Given the description of an element on the screen output the (x, y) to click on. 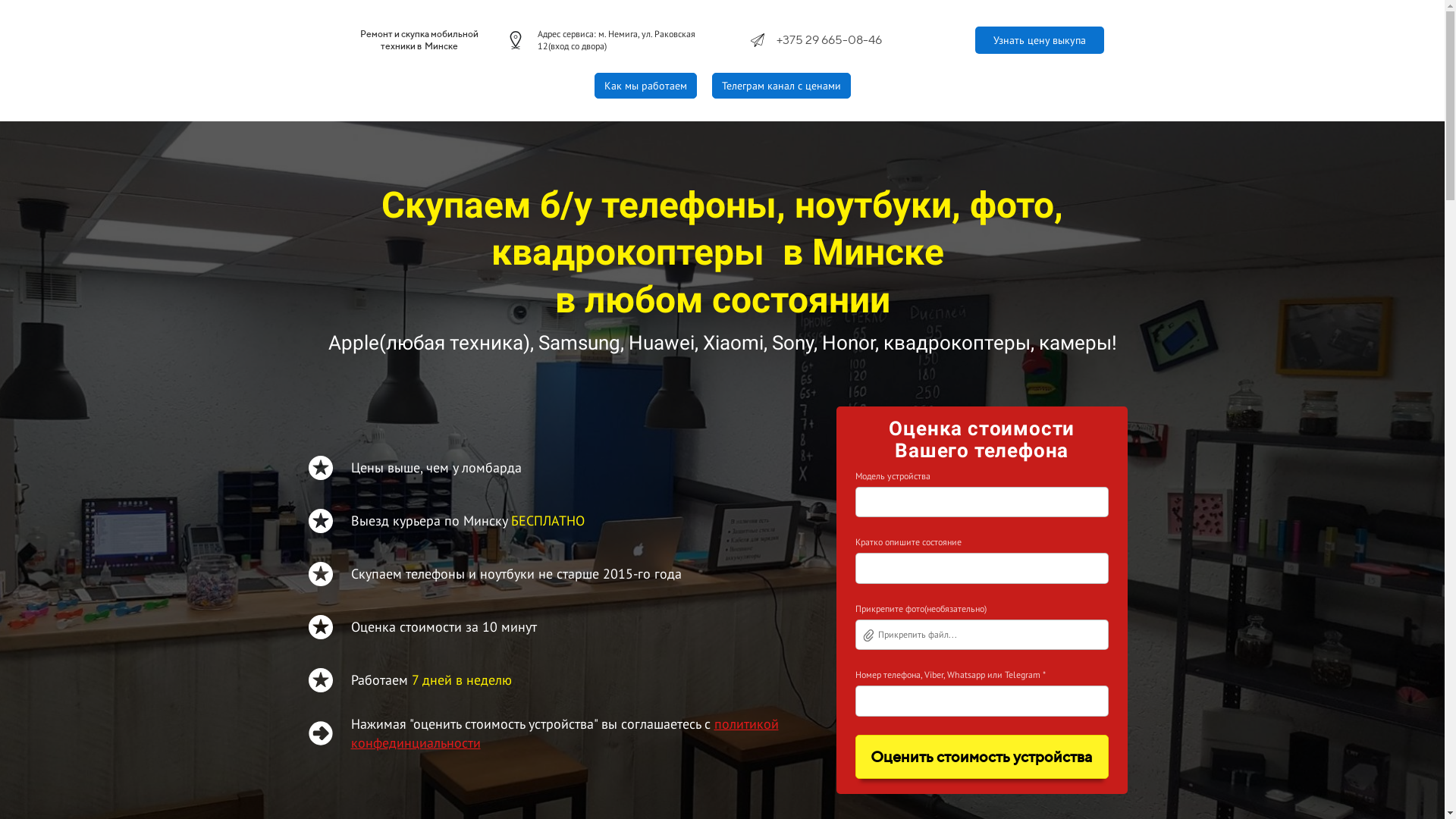
+375 29 665-08-46 Element type: text (828, 39)
